Given the description of an element on the screen output the (x, y) to click on. 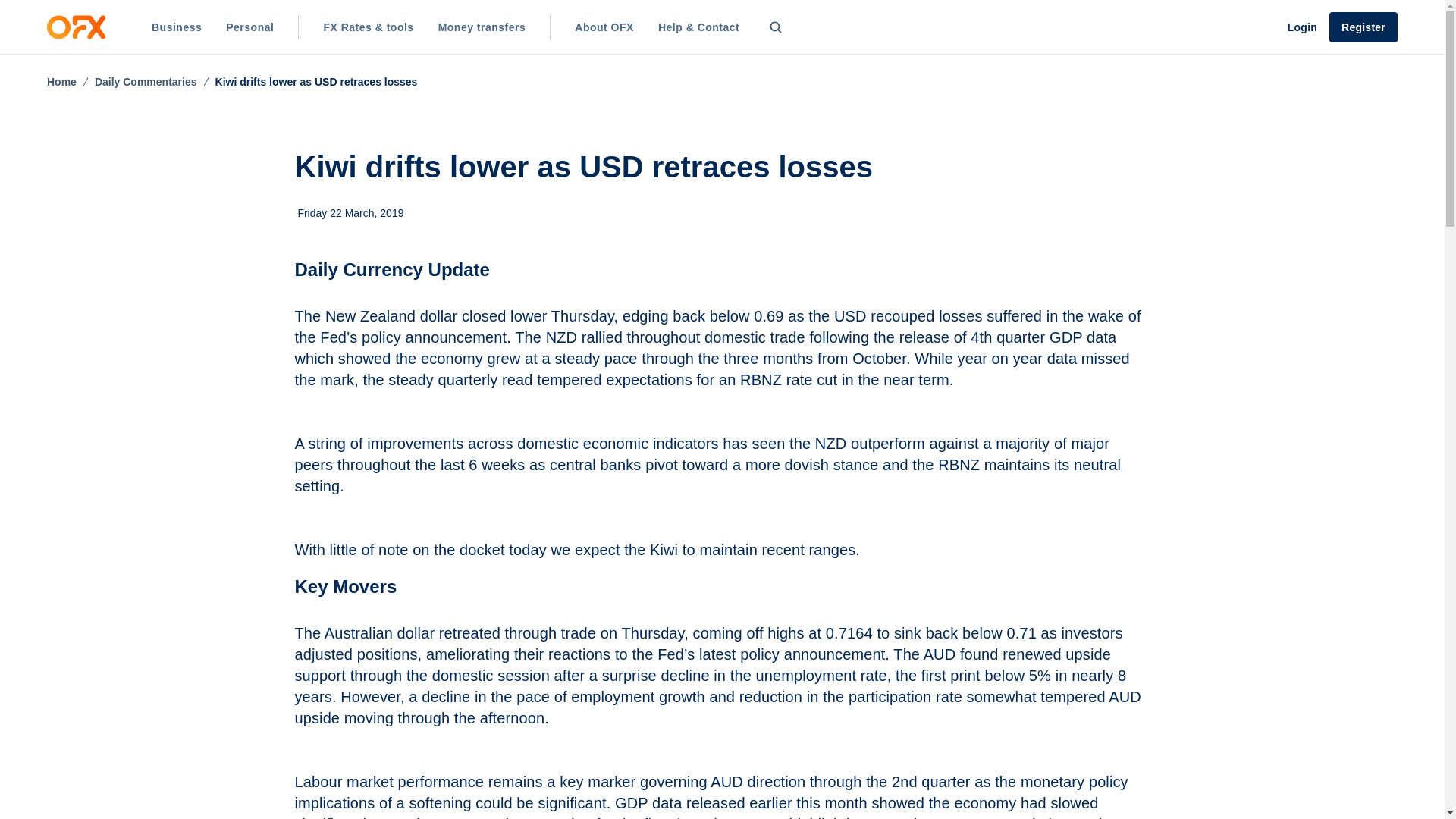
Business (176, 27)
Personal (249, 27)
